Given the description of an element on the screen output the (x, y) to click on. 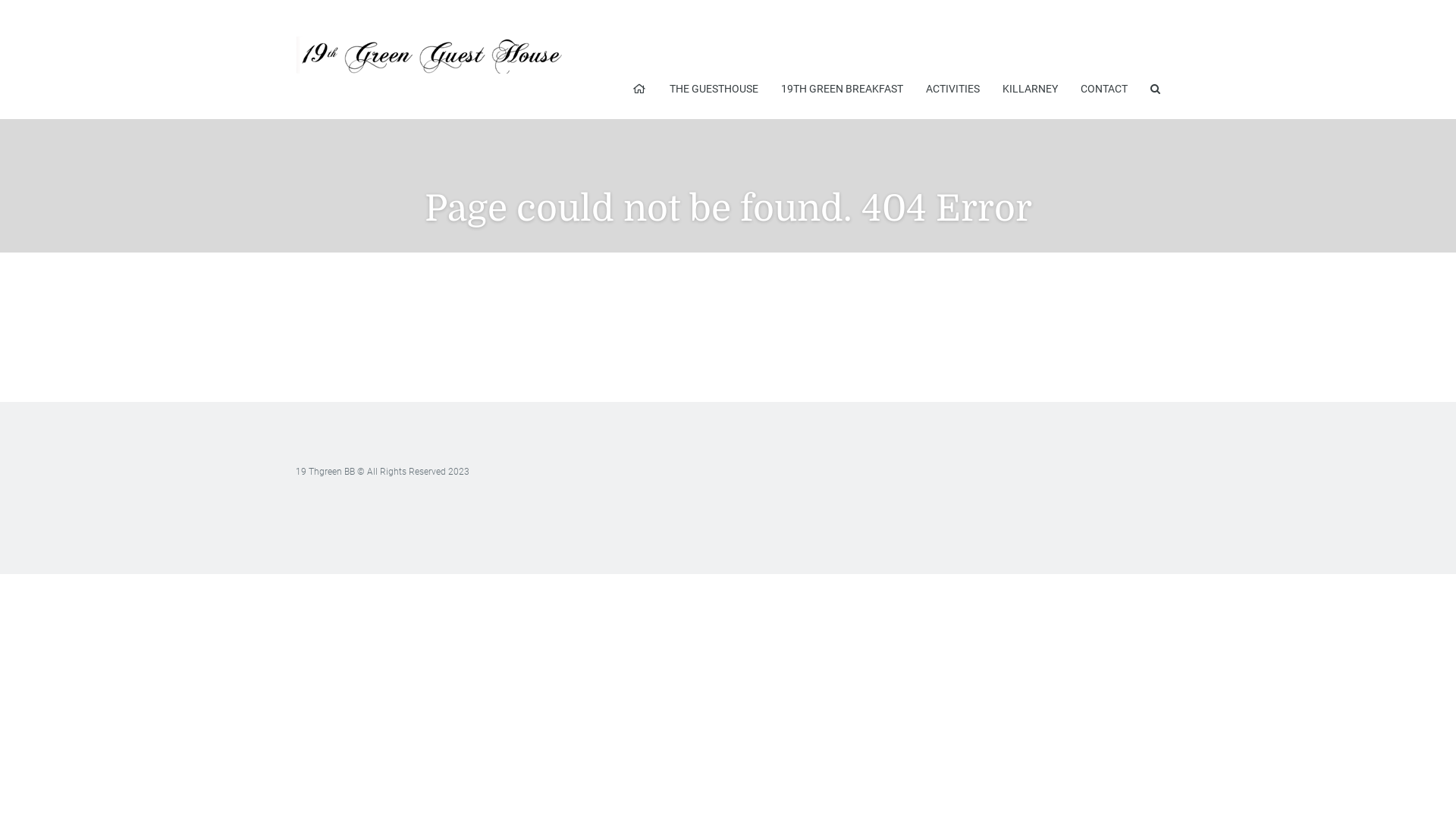
KILLARNEY Element type: text (1029, 88)
ACTIVITIES Element type: text (952, 88)
THE GUESTHOUSE Element type: text (713, 88)
19TH GREEN BREAKFAST Element type: text (842, 88)
CONTACT Element type: text (1103, 88)
